Given the description of an element on the screen output the (x, y) to click on. 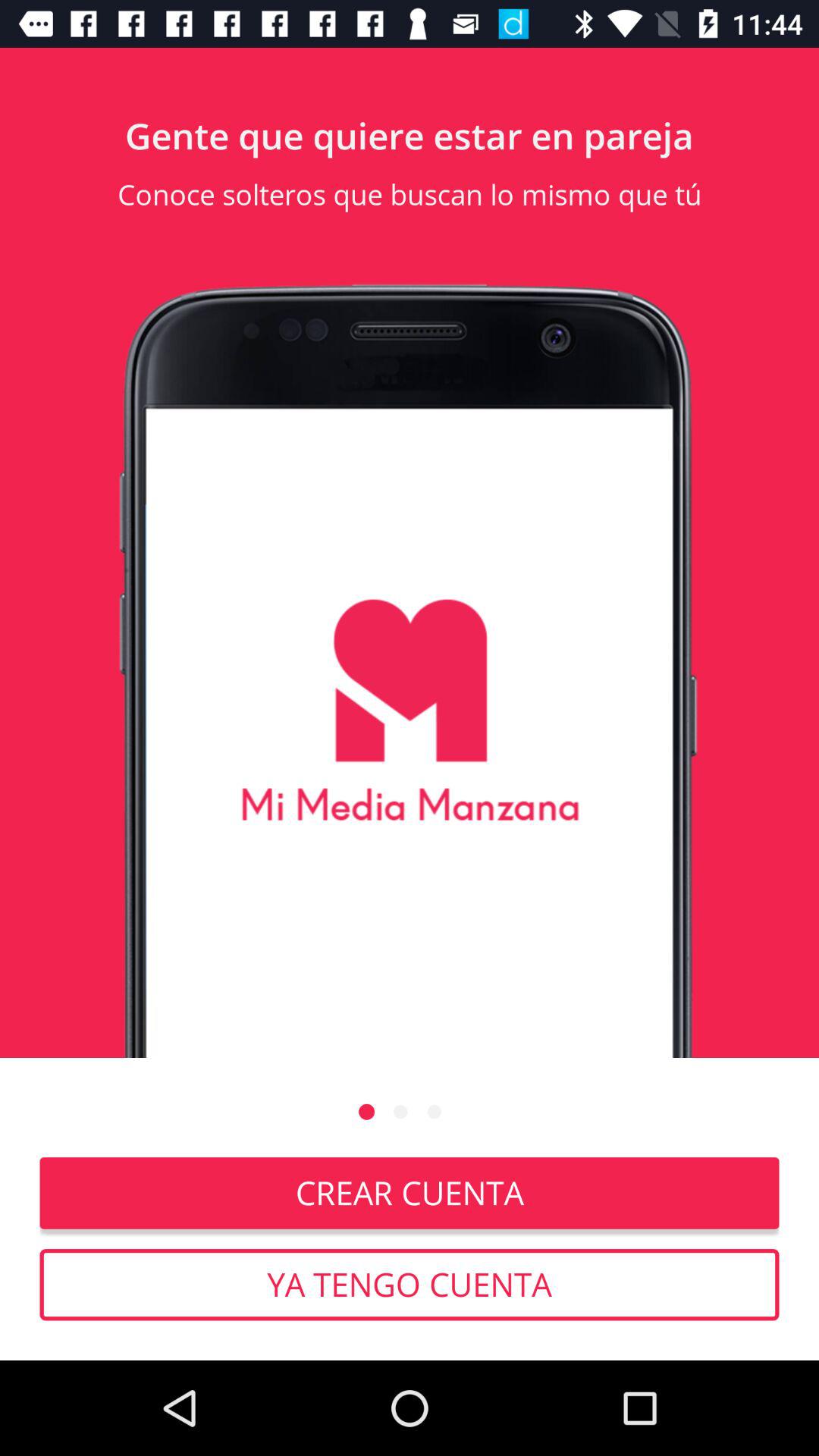
click item above the ya tengo cuenta icon (409, 1193)
